Given the description of an element on the screen output the (x, y) to click on. 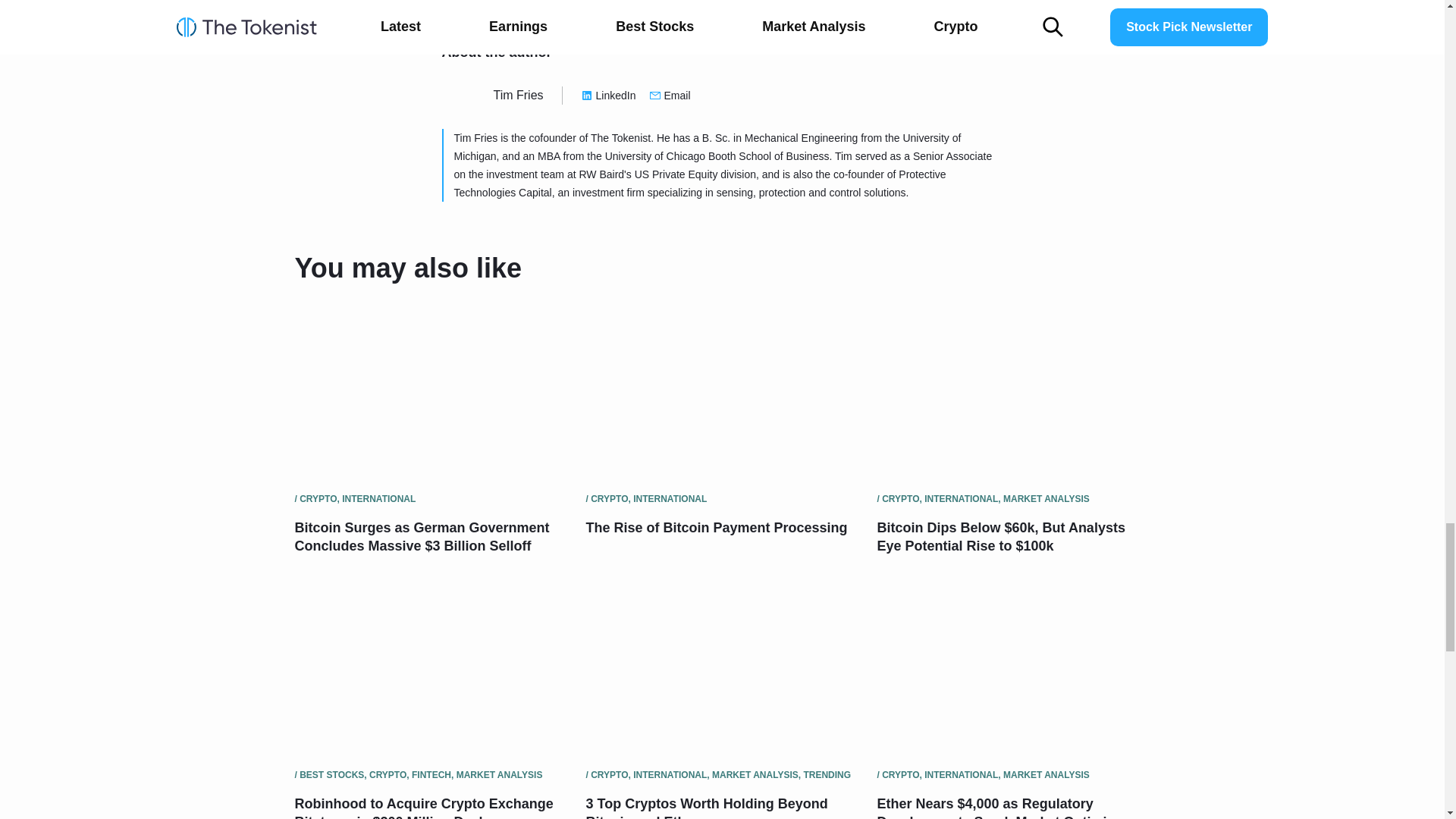
World token (624, 6)
Ukraine (550, 6)
Tim Fries (518, 93)
LinkedIn (608, 95)
Airdrop (487, 6)
Email (669, 95)
